Given the description of an element on the screen output the (x, y) to click on. 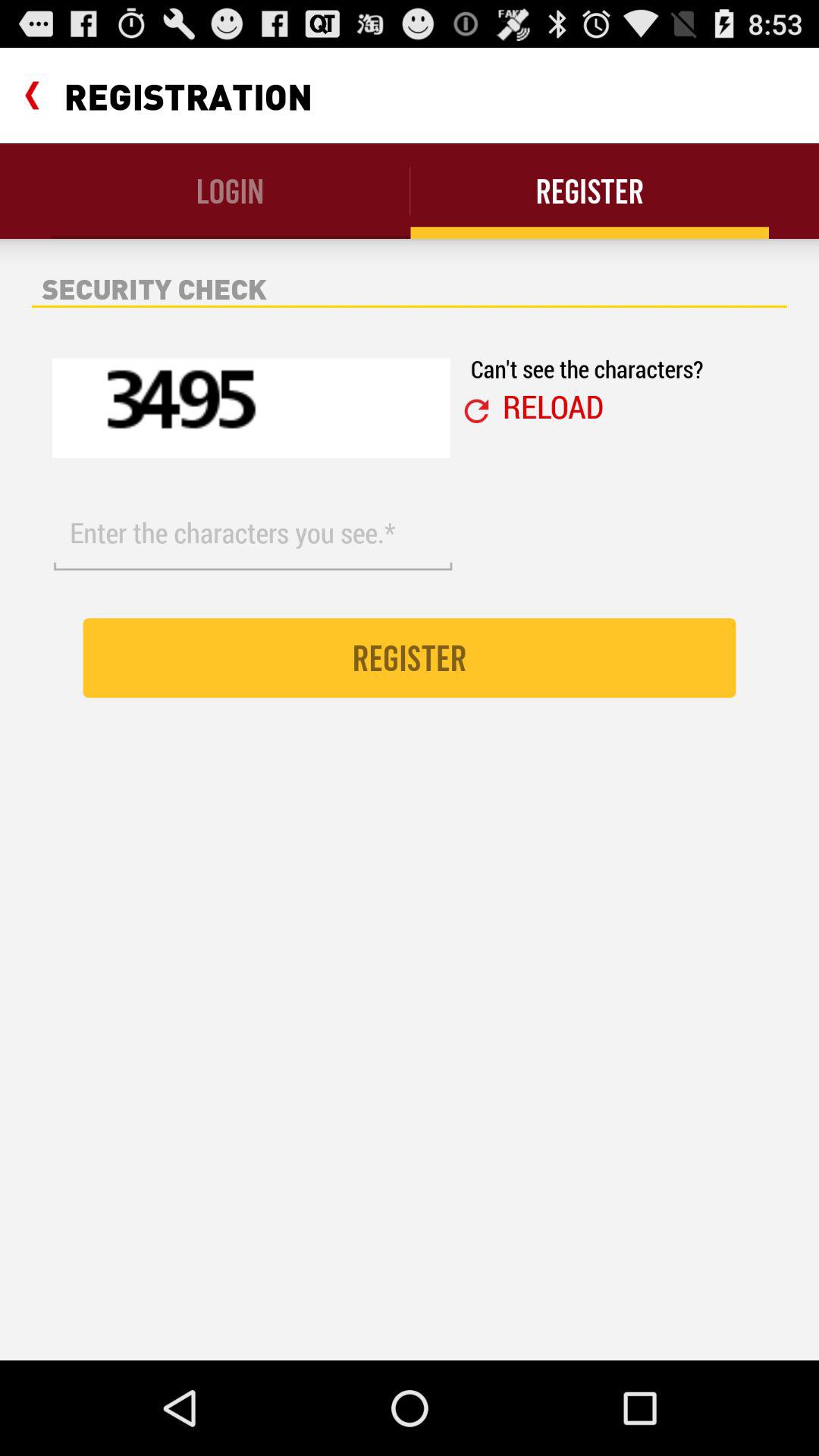
launch the item above register (253, 533)
